Given the description of an element on the screen output the (x, y) to click on. 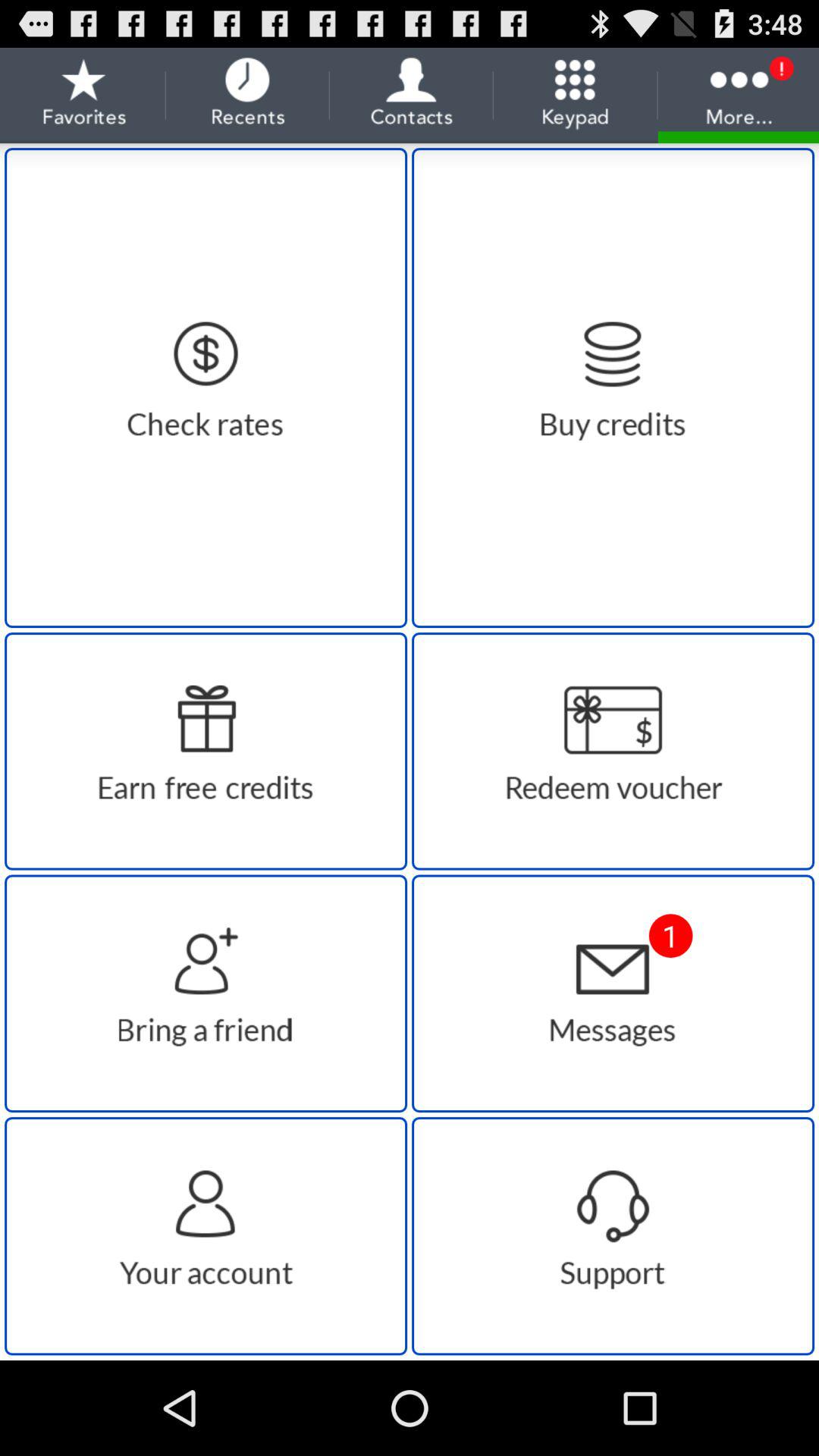
share the app (205, 993)
